Given the description of an element on the screen output the (x, y) to click on. 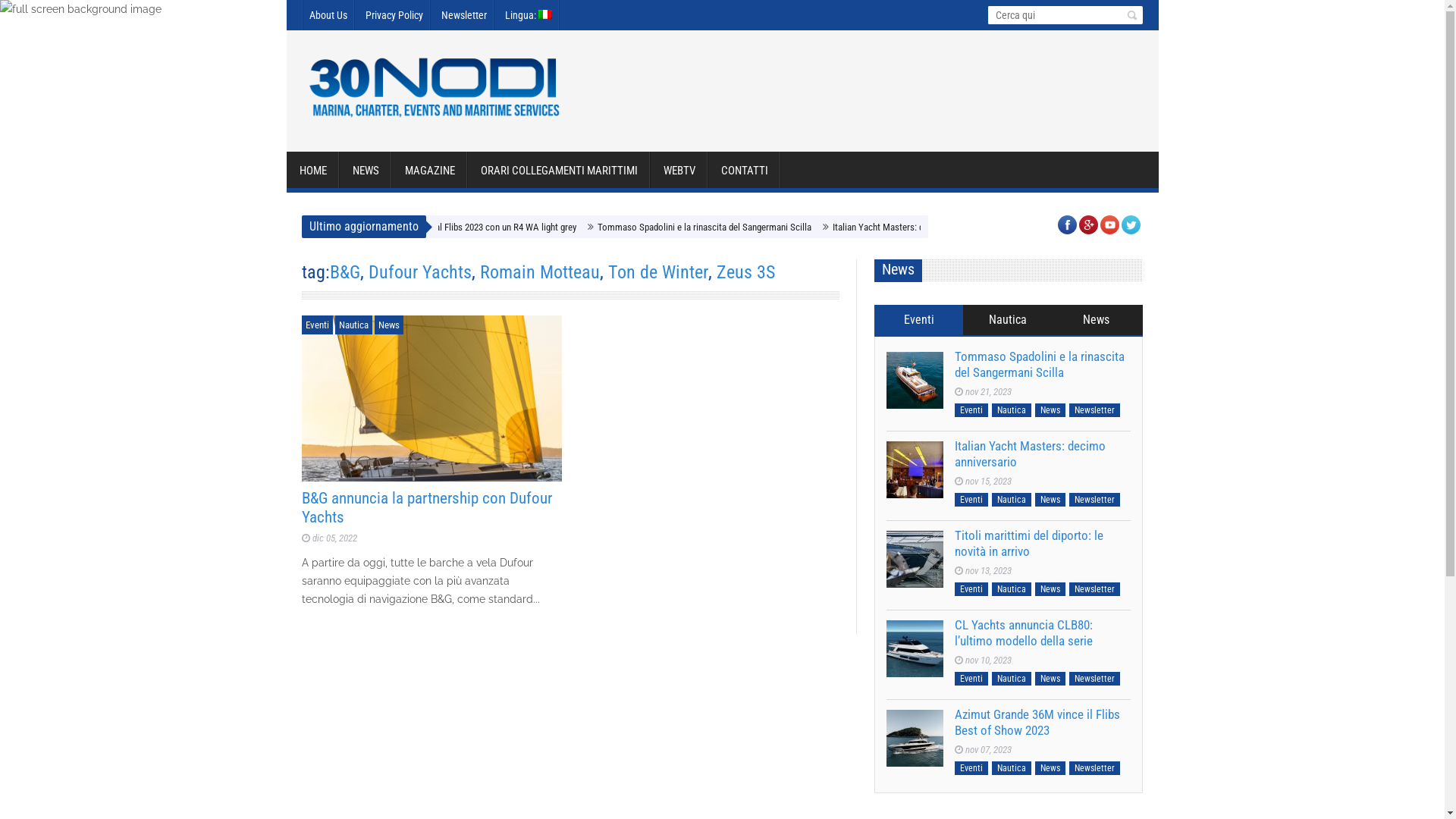
News Element type: text (1050, 410)
Newsletter Element type: text (1094, 678)
B&G annuncia la partnership con Dufour Yachts Element type: text (426, 507)
Nautica Element type: text (1011, 410)
Nautica Element type: text (1007, 319)
B&G Element type: text (344, 271)
HOME Element type: text (312, 170)
Newsletter Element type: text (463, 15)
News Element type: text (1050, 768)
Eventi Element type: text (971, 589)
Romain Motteau Element type: text (539, 271)
Azimut Grande 36M vince il Flibs Best of Show 2023 Element type: hover (914, 737)
NEWS Element type: text (365, 170)
Eventi Element type: text (971, 410)
ORARI COLLEGAMENTI MARITTIMI Element type: text (558, 170)
Zeus 3S Element type: text (744, 271)
News Element type: text (1050, 678)
Italian Yacht Masters: decimo anniversario Element type: hover (914, 469)
Azimut Grande 36M vince il Flibs Best of Show 2023 Element type: text (1037, 721)
News Element type: text (388, 324)
Nautica Element type: text (1011, 768)
Newsletter Element type: text (1094, 499)
Dufour Yachts Element type: text (419, 271)
Nautica Element type: text (1011, 589)
CONTATTI Element type: text (744, 170)
B&G annuncia la partnership con Dufour Yachts Element type: hover (431, 398)
Nautica Element type: text (1011, 678)
Privacy Policy Element type: text (393, 15)
Lingua:  Element type: text (528, 15)
Eventi Element type: text (918, 319)
News Element type: text (1050, 499)
Tommaso Spadolini e la rinascita del Sangermani Scilla Element type: hover (914, 379)
Tommaso Spadolini e la rinascita del Sangermani Scilla Element type: text (872, 226)
News Element type: text (1095, 319)
Italian Yacht Masters: decimo anniversario Element type: text (1029, 453)
Eventi Element type: text (971, 499)
Nautica Element type: text (353, 324)
Eventi Element type: text (971, 678)
Nautica Element type: text (1011, 499)
MAGAZINE Element type: text (429, 170)
Ton de Winter Element type: text (658, 271)
About Us Element type: text (327, 15)
Tommaso Spadolini e la rinascita del Sangermani Scilla Element type: text (1039, 363)
Newsletter Element type: text (1094, 589)
Newsletter Element type: text (1094, 410)
Eventi Element type: text (971, 768)
WEBTV Element type: text (679, 170)
Eventi Element type: text (316, 324)
News Element type: text (1050, 589)
Newsletter Element type: text (1094, 768)
Evo Yachts al Flibs 2023 con un R4 WA light grey Element type: text (651, 226)
